Given the description of an element on the screen output the (x, y) to click on. 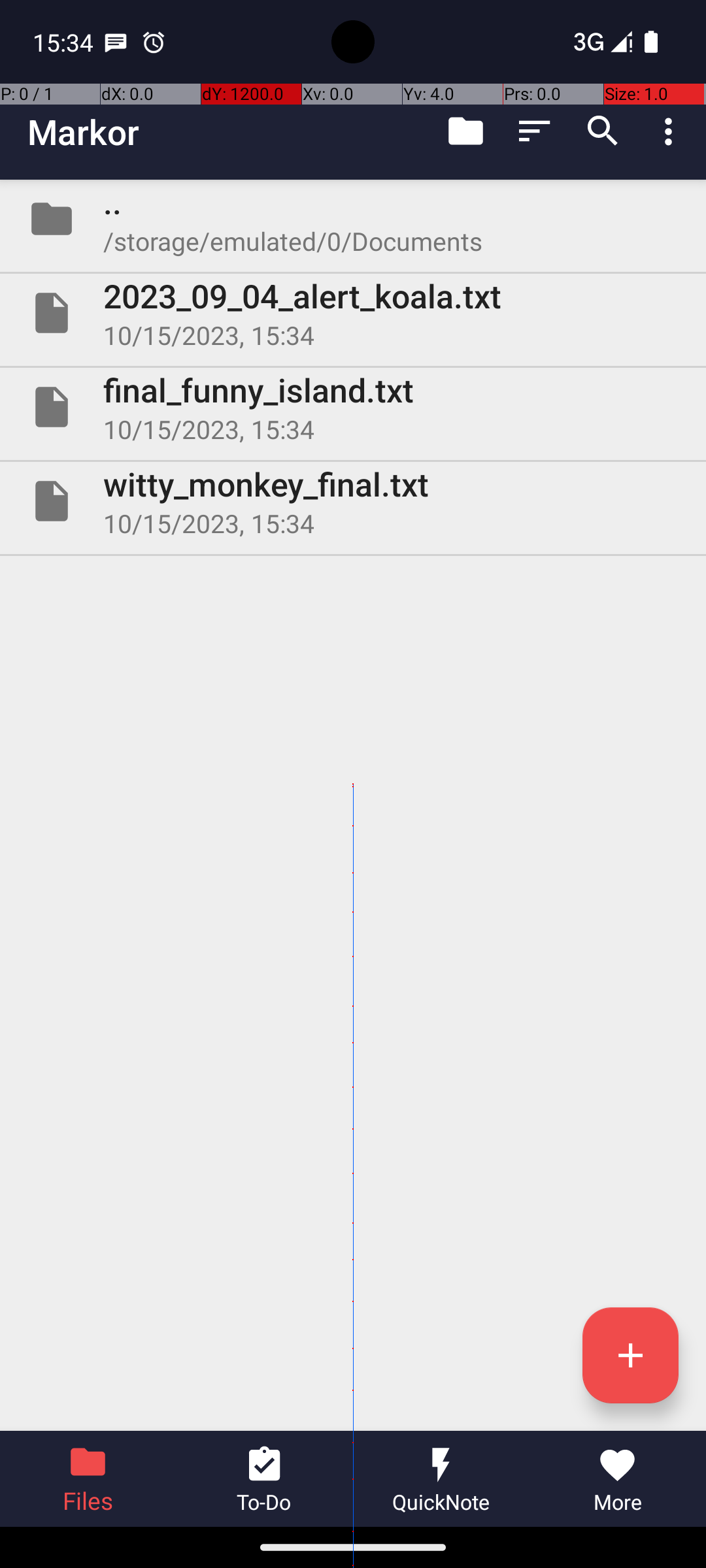
File 2023_09_04_alert_koala.txt  Element type: android.widget.LinearLayout (353, 312)
File final_funny_island.txt  Element type: android.widget.LinearLayout (353, 406)
File witty_monkey_final.txt  Element type: android.widget.LinearLayout (353, 500)
